Given the description of an element on the screen output the (x, y) to click on. 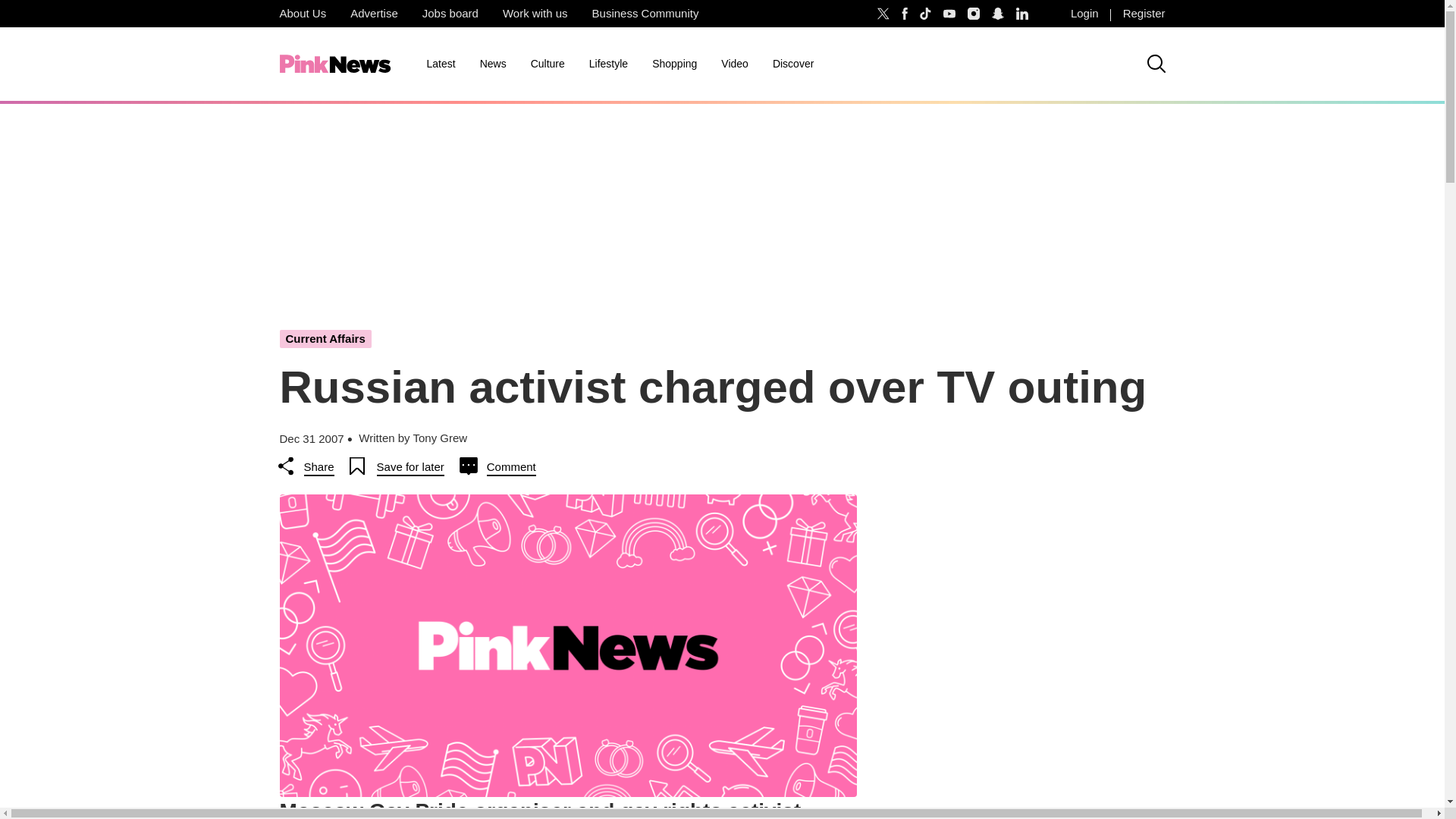
Login (1084, 13)
Follow PinkNews on LinkedIn (1021, 13)
Jobs board (450, 13)
News (493, 63)
Latest (440, 63)
Advertise (373, 13)
About Us (301, 13)
Work with us (534, 13)
Business Community (645, 13)
Culture (547, 63)
Register (1143, 13)
Lifestyle (608, 63)
